Given the description of an element on the screen output the (x, y) to click on. 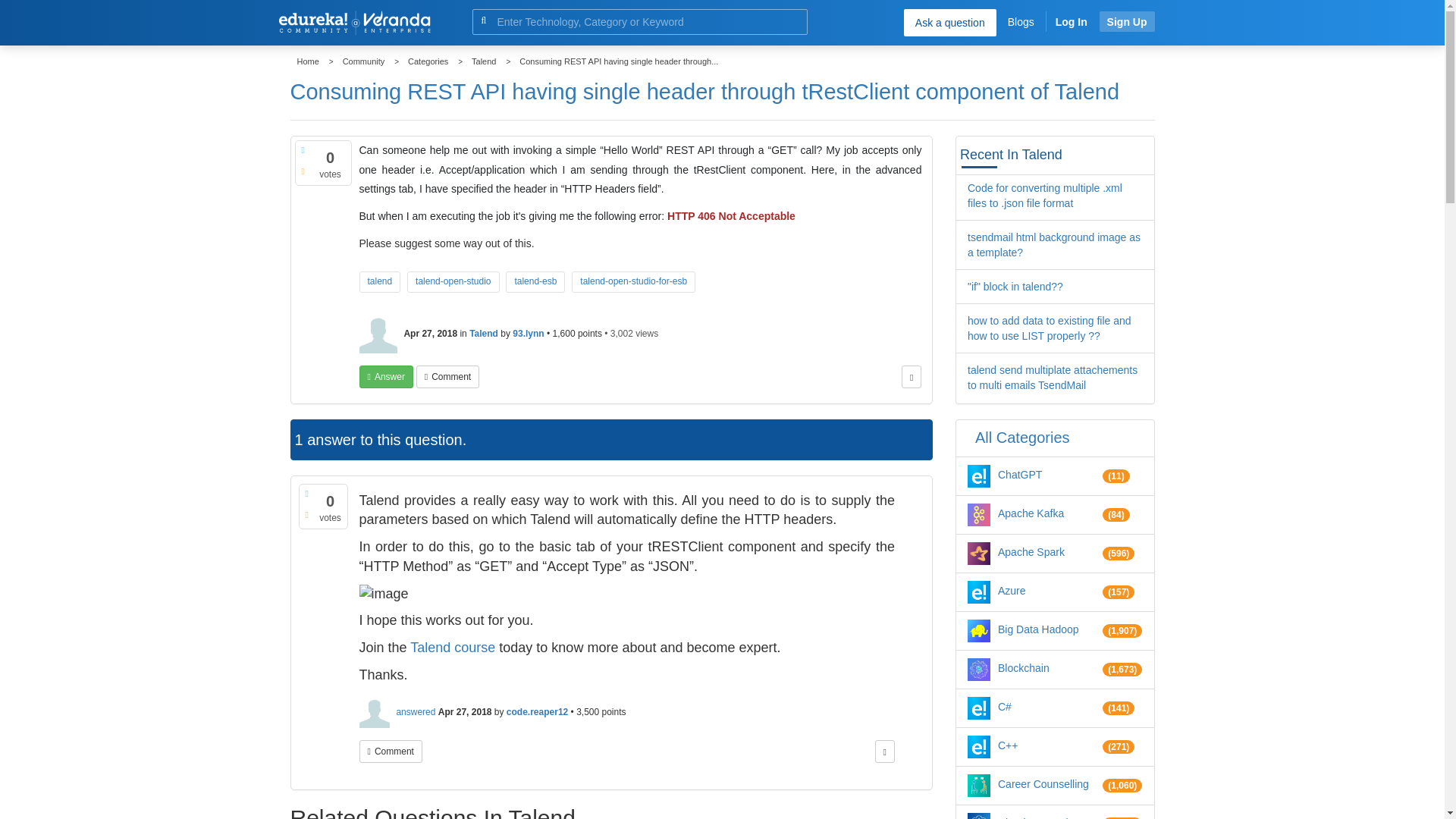
Ask a question (949, 22)
Blogs (1020, 21)
